Given the description of an element on the screen output the (x, y) to click on. 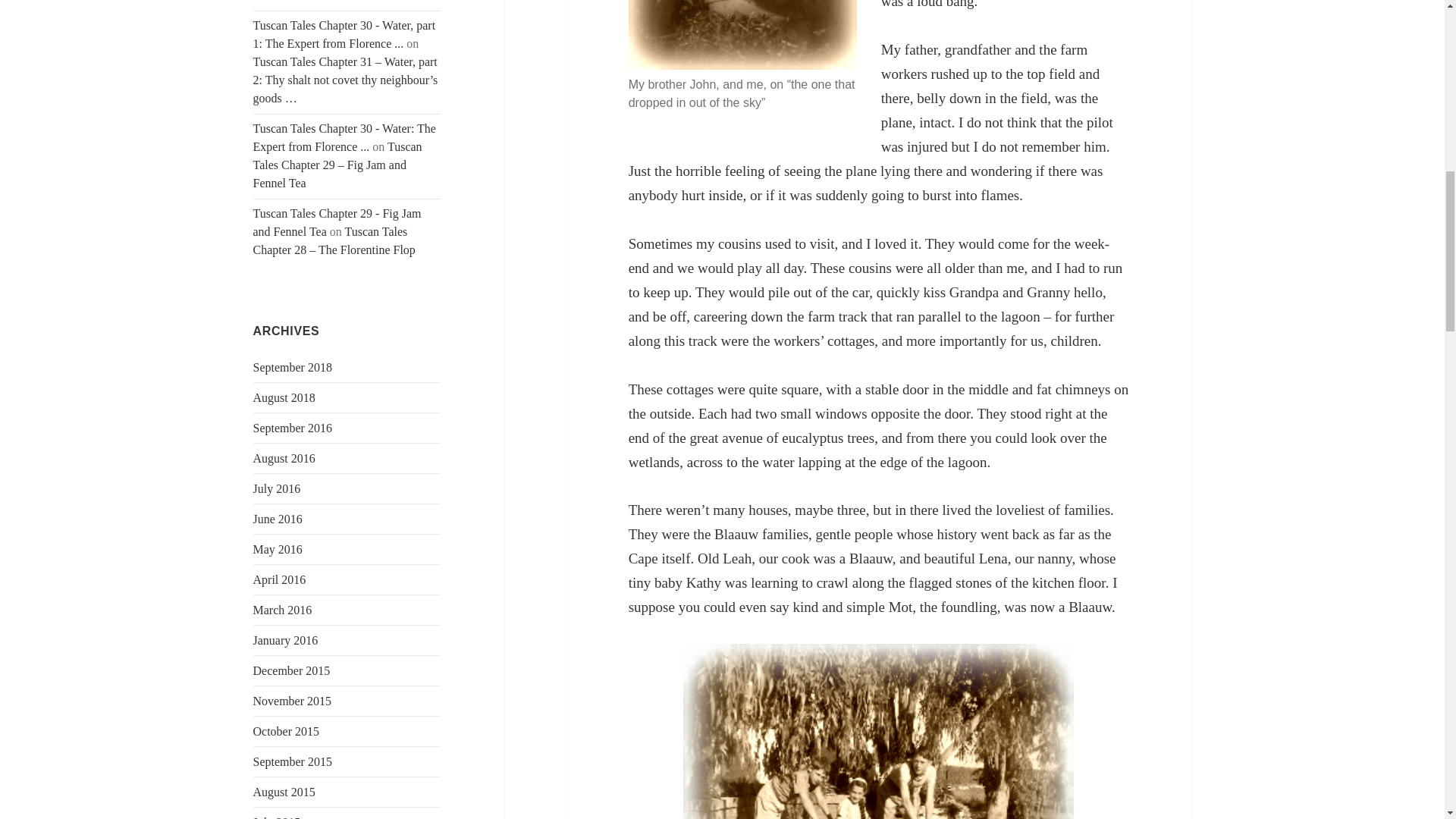
August 2016 (284, 458)
July 2016 (277, 488)
September 2015 (292, 761)
November 2015 (292, 700)
May 2016 (277, 549)
March 2016 (283, 609)
December 2015 (291, 670)
September 2016 (292, 427)
January 2016 (285, 640)
June 2016 (277, 518)
September 2018 (292, 367)
October 2015 (286, 730)
April 2016 (279, 579)
